Given the description of an element on the screen output the (x, y) to click on. 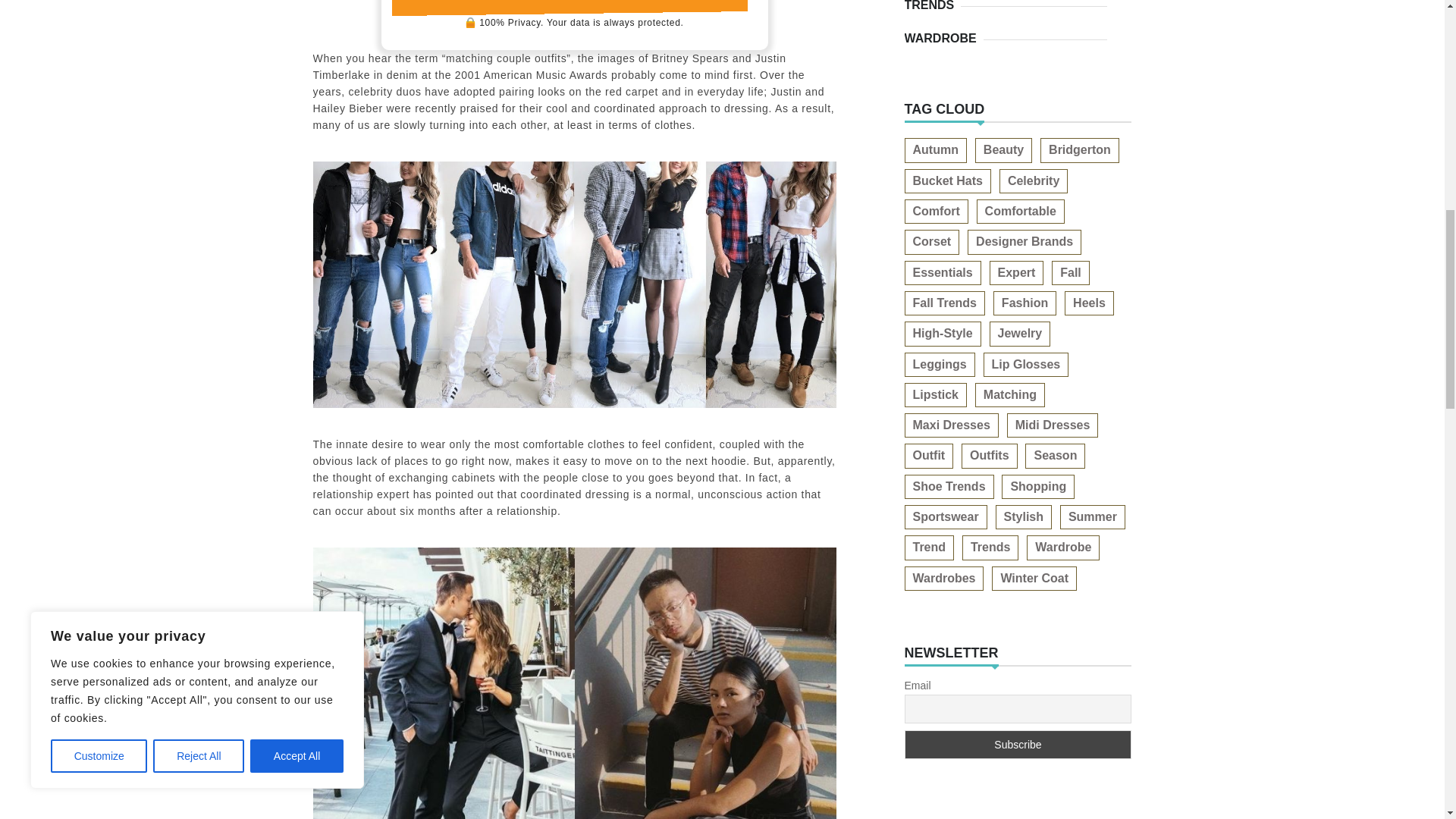
Subscribe (1017, 744)
Start Now (574, 6)
